Given the description of an element on the screen output the (x, y) to click on. 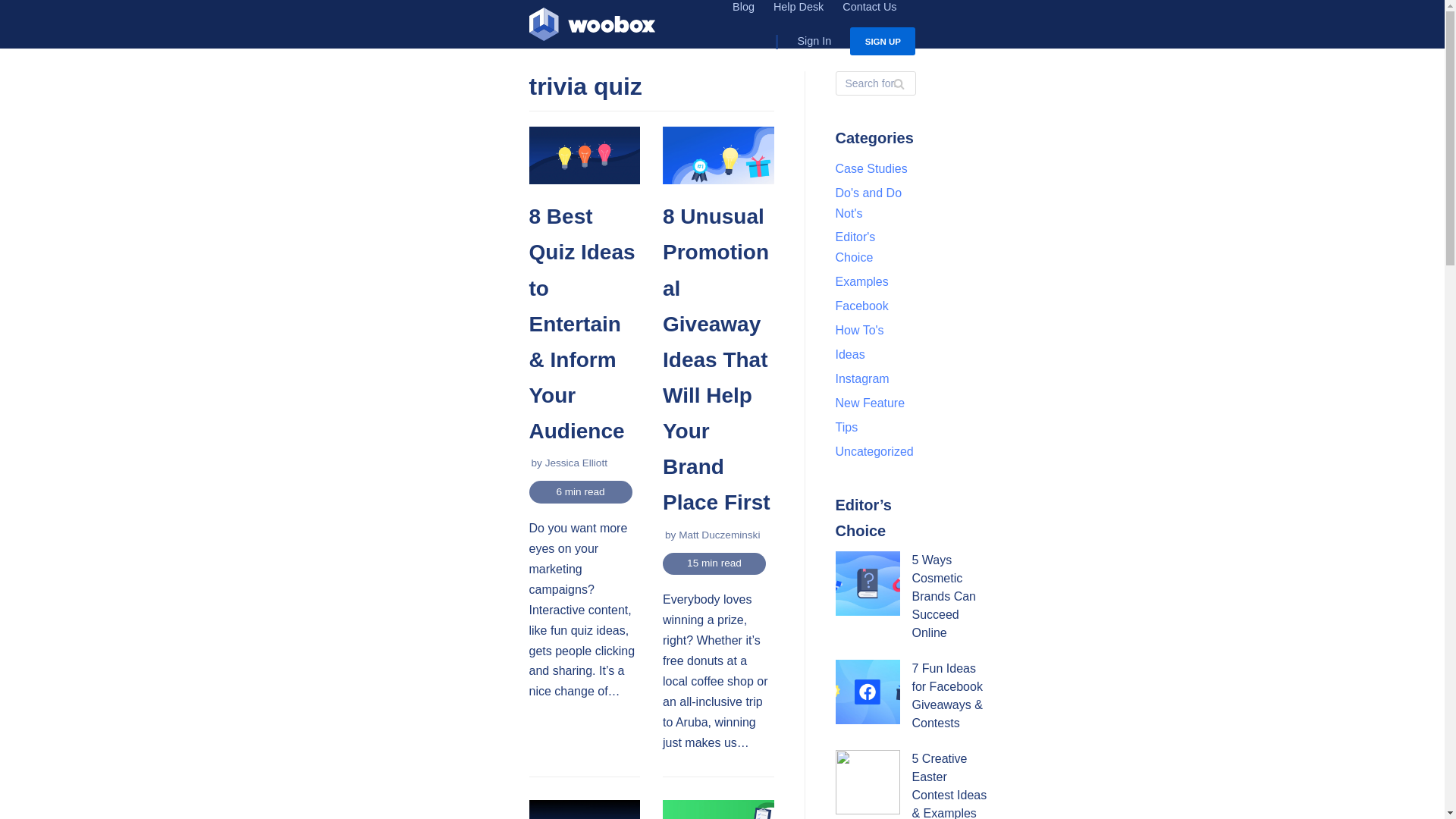
Woobox Blog (592, 27)
Help Desk (798, 8)
Jessica Elliott (575, 462)
Posts by Matt Duczeminski (719, 534)
Blog (743, 8)
Contact Us (869, 8)
Sign In (802, 40)
Skip to content (592, 27)
Posts by Jessica Elliott (15, 7)
Matt Duczeminski (575, 462)
SIGN UP (719, 534)
